Given the description of an element on the screen output the (x, y) to click on. 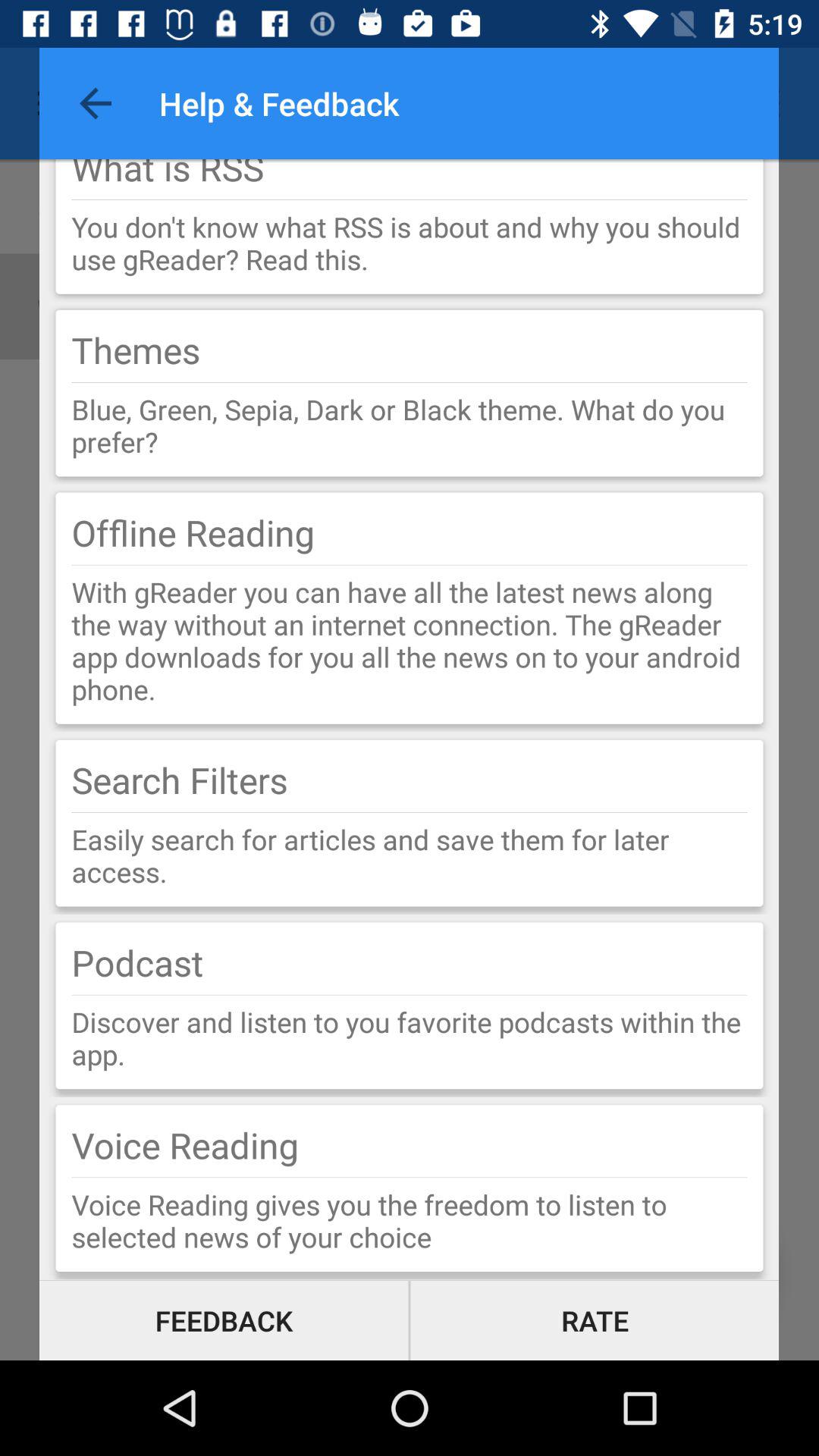
open the item next to help & feedback (95, 103)
